Given the description of an element on the screen output the (x, y) to click on. 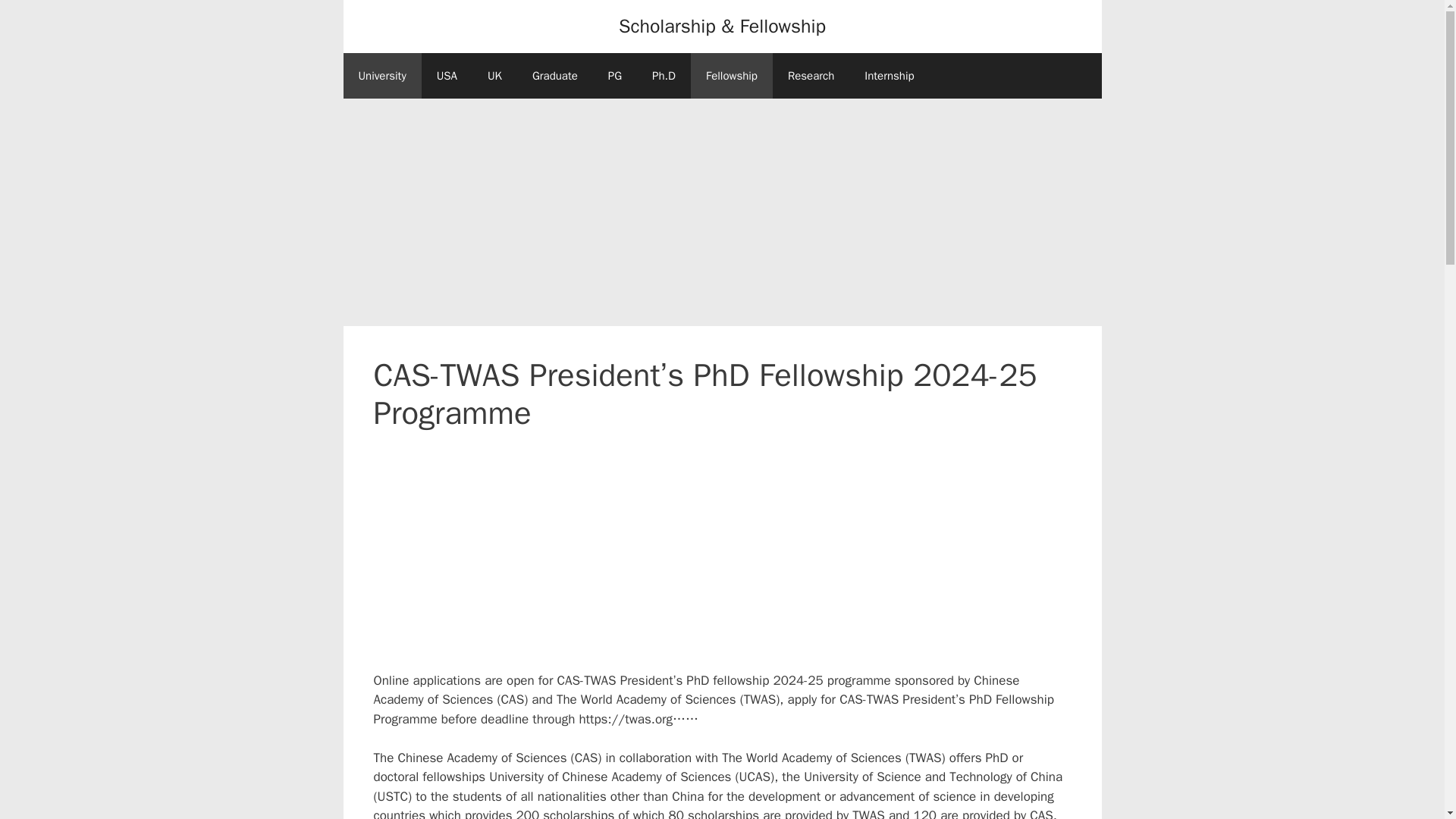
Research (810, 75)
University (381, 75)
Fellowship (731, 75)
Ph.D (663, 75)
Internship (888, 75)
Graduate (554, 75)
UK (493, 75)
PG (614, 75)
USA (446, 75)
